Given the description of an element on the screen output the (x, y) to click on. 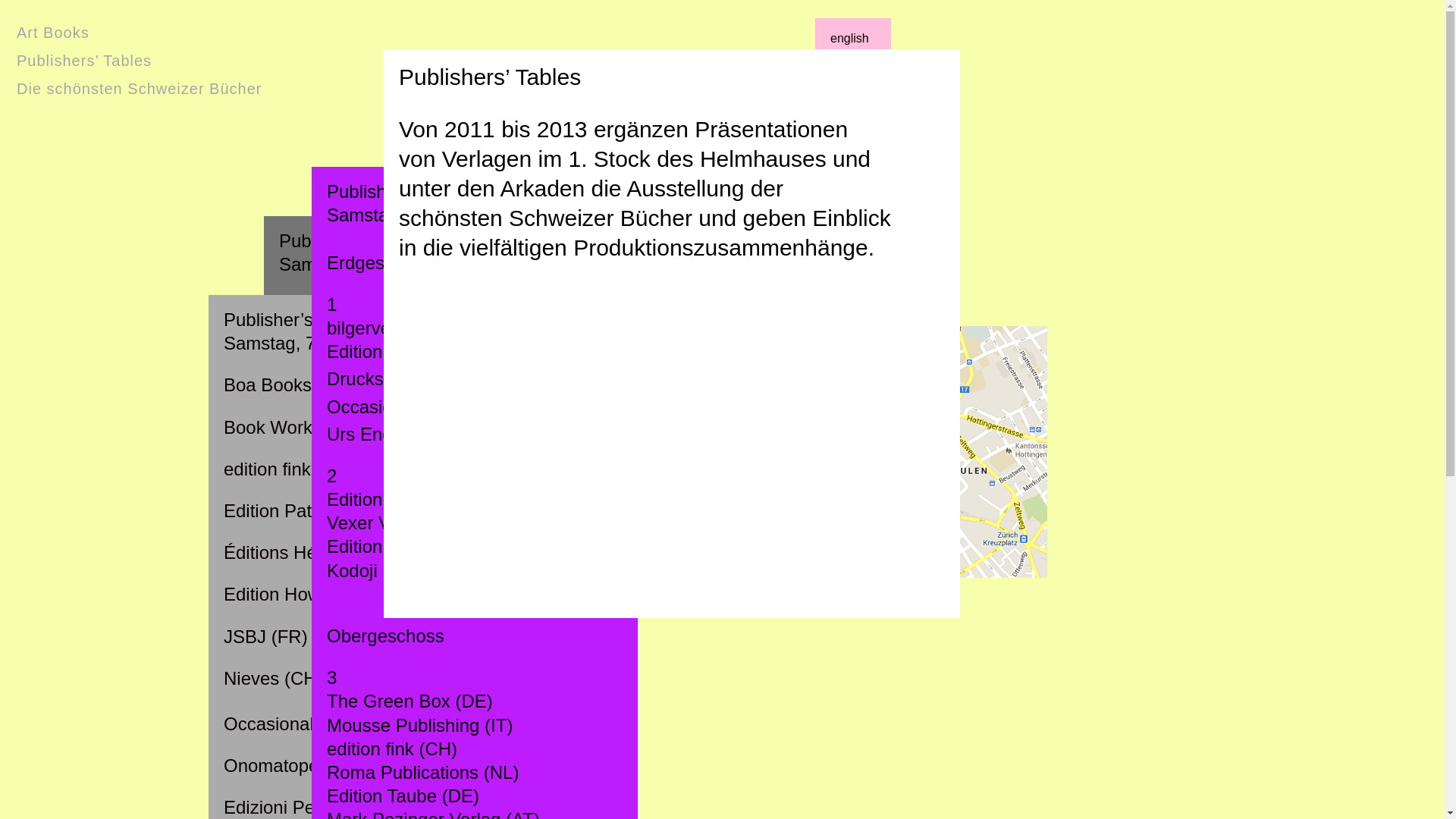
The Green Box (DE) Element type: text (409, 700)
Argobooks (DE) Element type: text (343, 348)
JSBJ (FR) Element type: text (265, 636)
Kodoji Press (CH) Element type: text (399, 570)
Boa Books (CH) Element type: text (344, 431)
Edition Howeg (CH) Element type: text (359, 682)
Art Books Element type: text (52, 31)
Book Works (UK) Element type: text (293, 427)
Mousse Publishing (IT) Element type: text (419, 725)
Bedford Press (UK)* Element type: text (361, 389)
edition fink (CH) Element type: text (391, 748)
Book Works (UK) Element type: text (349, 473)
bilgerverlag (CH) Element type: text (395, 327)
Kodoji Press (CH) Element type: text (351, 724)
Edition Patrick Frey (CH) Element type: text (323, 510)
edition fink (CH) Element type: text (288, 468)
Boa Books (CH) Element type: text (288, 384)
Edition Howeg (CH) Element type: text (406, 351)
Archive Books (DE)* Element type: text (362, 305)
Nieves (CH) Element type: text (273, 678)
Edition Howeg (CH) Element type: text (303, 593)
edition fink (CH) Element type: text (344, 599)
Edition Haus am Gern (CH) Element type: text (437, 546)
Edition Dino Simonett (CH) Element type: text (435, 499)
Edition Patrick Frey (CH) Element type: text (379, 640)
Edition Taube (DE) Element type: text (402, 795)
Urs Engeler Editor (CH) Element type: text (374, 557)
Dent De Leone (FR)* Element type: text (364, 515)
Vexer Verlag (CH) Element type: text (399, 522)
Onomatopee (NL) Element type: text (296, 765)
english Element type: text (849, 39)
Mousse Publishing (IT) Element type: text (371, 766)
Roma Publications (NL) Element type: text (422, 772)
